Given the description of an element on the screen output the (x, y) to click on. 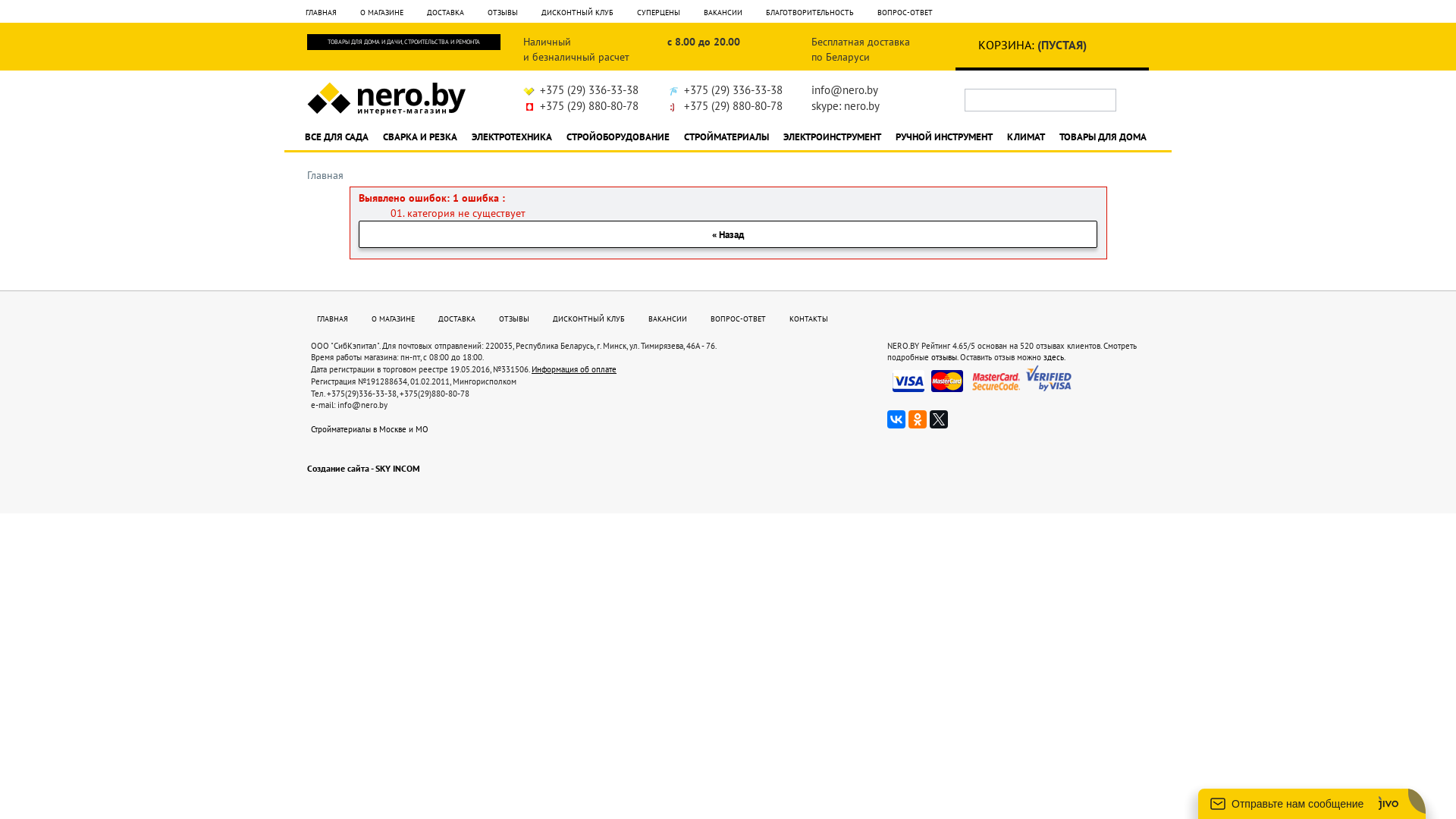
Twitter Element type: hover (938, 419)
